Given the description of an element on the screen output the (x, y) to click on. 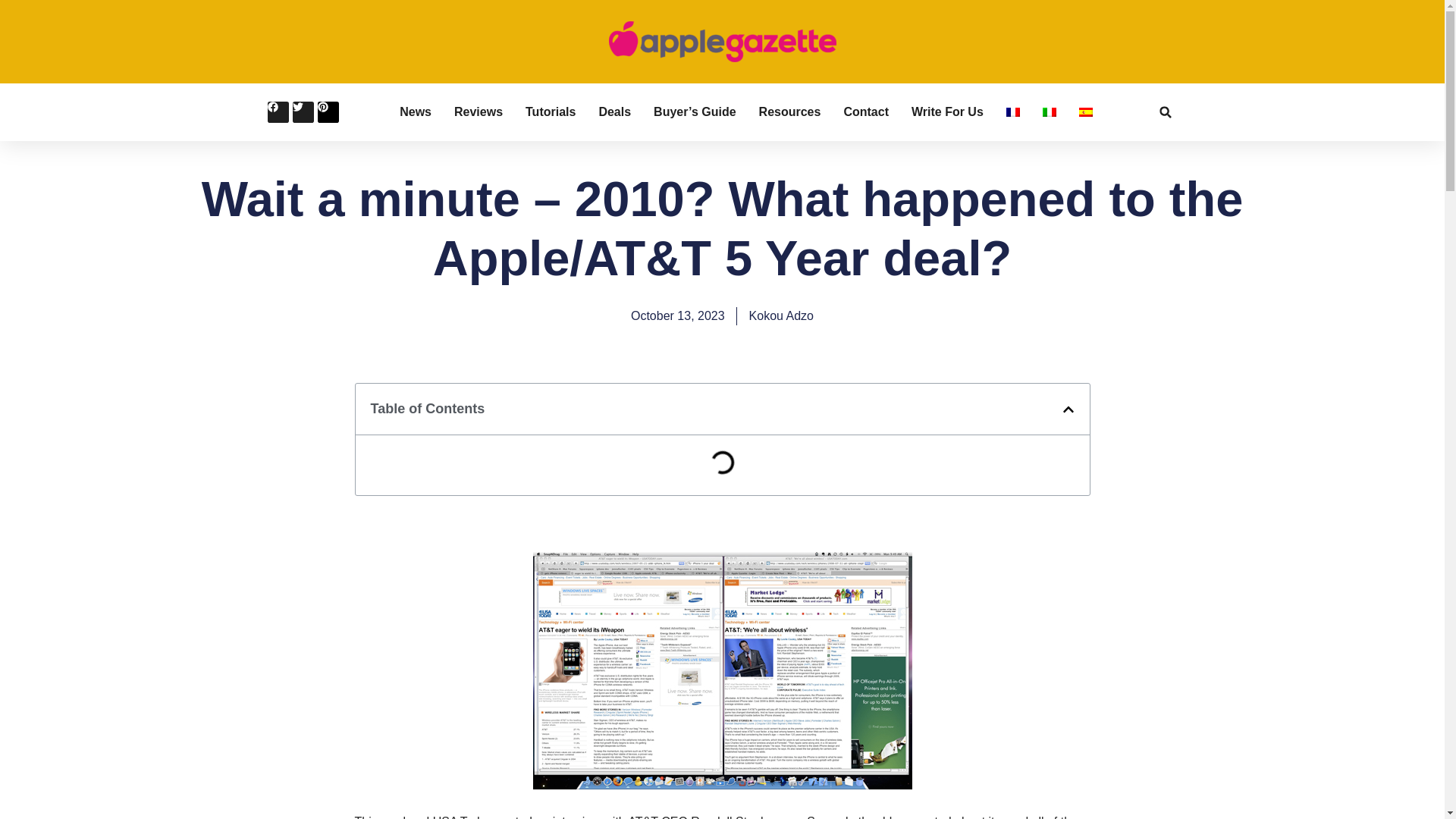
Reviews (478, 112)
News (414, 112)
Deals (614, 112)
Write For Us (947, 112)
Contact (865, 112)
Tutorials (550, 112)
Resources (789, 112)
